Given the description of an element on the screen output the (x, y) to click on. 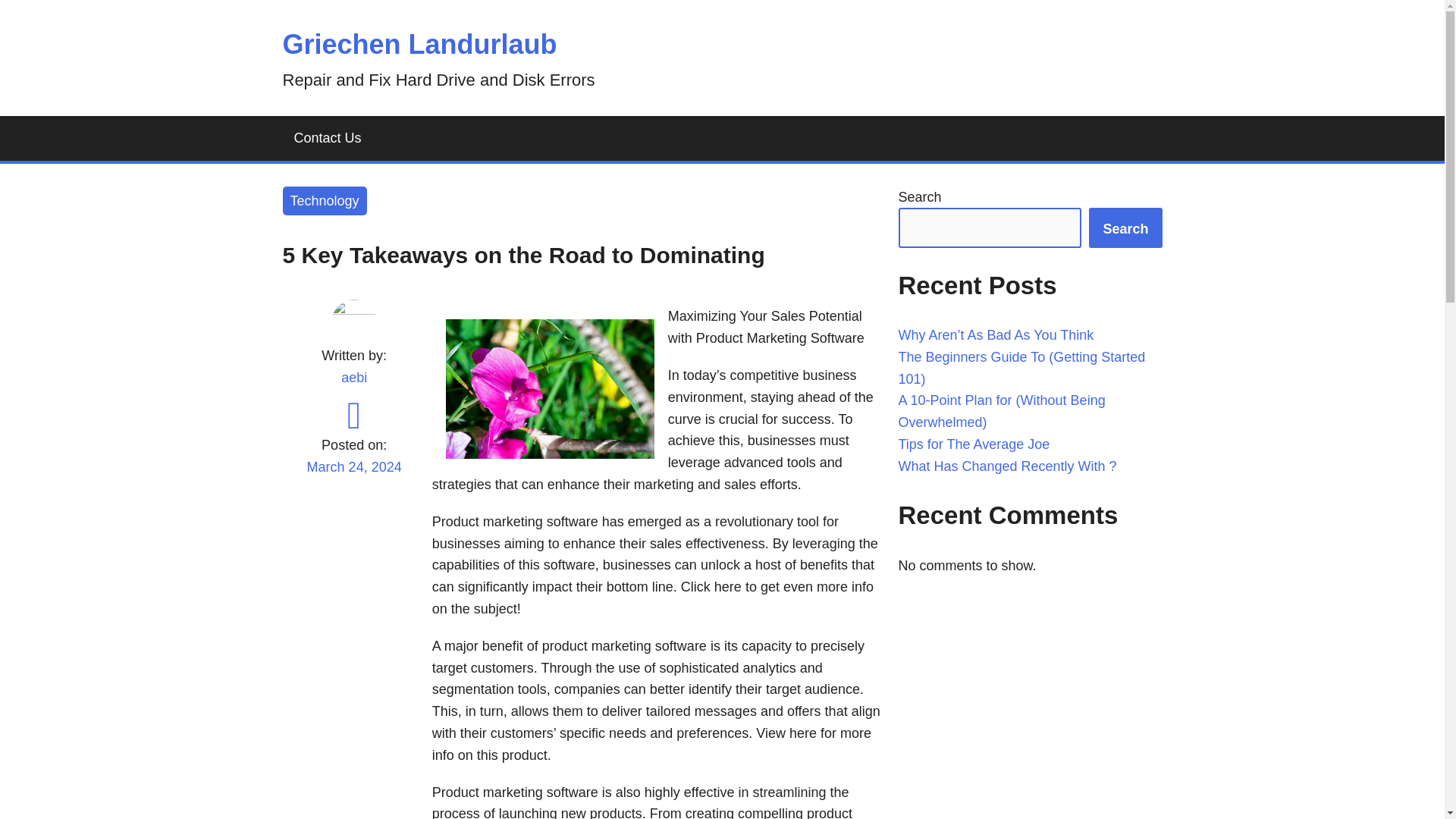
Griechen Landurlaub (419, 43)
What Has Changed Recently With ? (1007, 466)
Technology (324, 201)
March 24, 2024 (353, 476)
Tips for The Average Joe (973, 444)
Search (1125, 228)
Contact Us (327, 138)
aebi (353, 377)
